Given the description of an element on the screen output the (x, y) to click on. 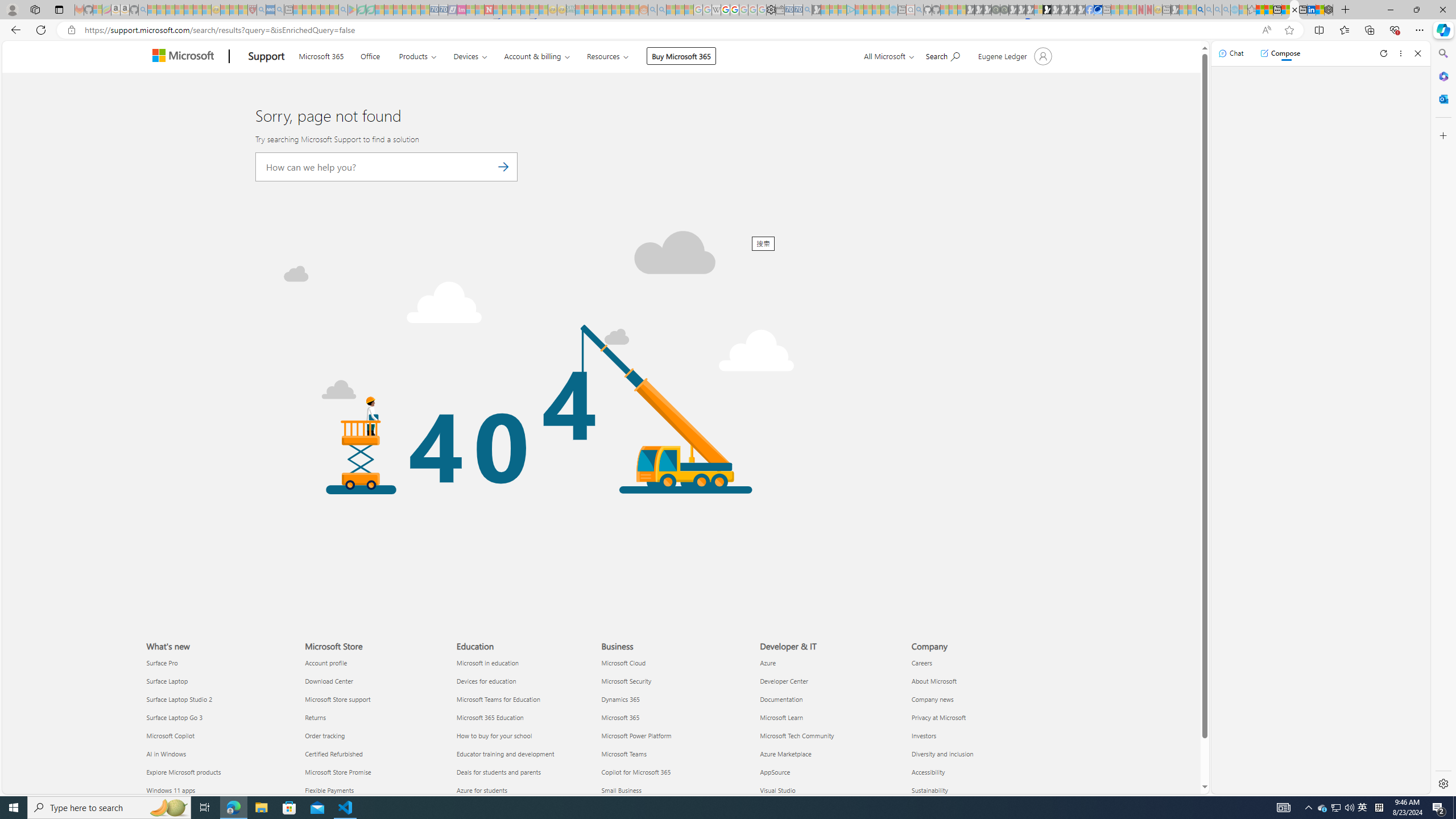
Account profile (373, 662)
Deals for students and parents Education (498, 771)
Sustainability Company (929, 789)
Privacy at Microsoft Company (938, 716)
Search for help (942, 54)
Target page - Wikipedia - Sleeping (716, 9)
Microsoft Tech Community (829, 735)
Surface Laptop Studio 2 What's new (178, 698)
